Given the description of an element on the screen output the (x, y) to click on. 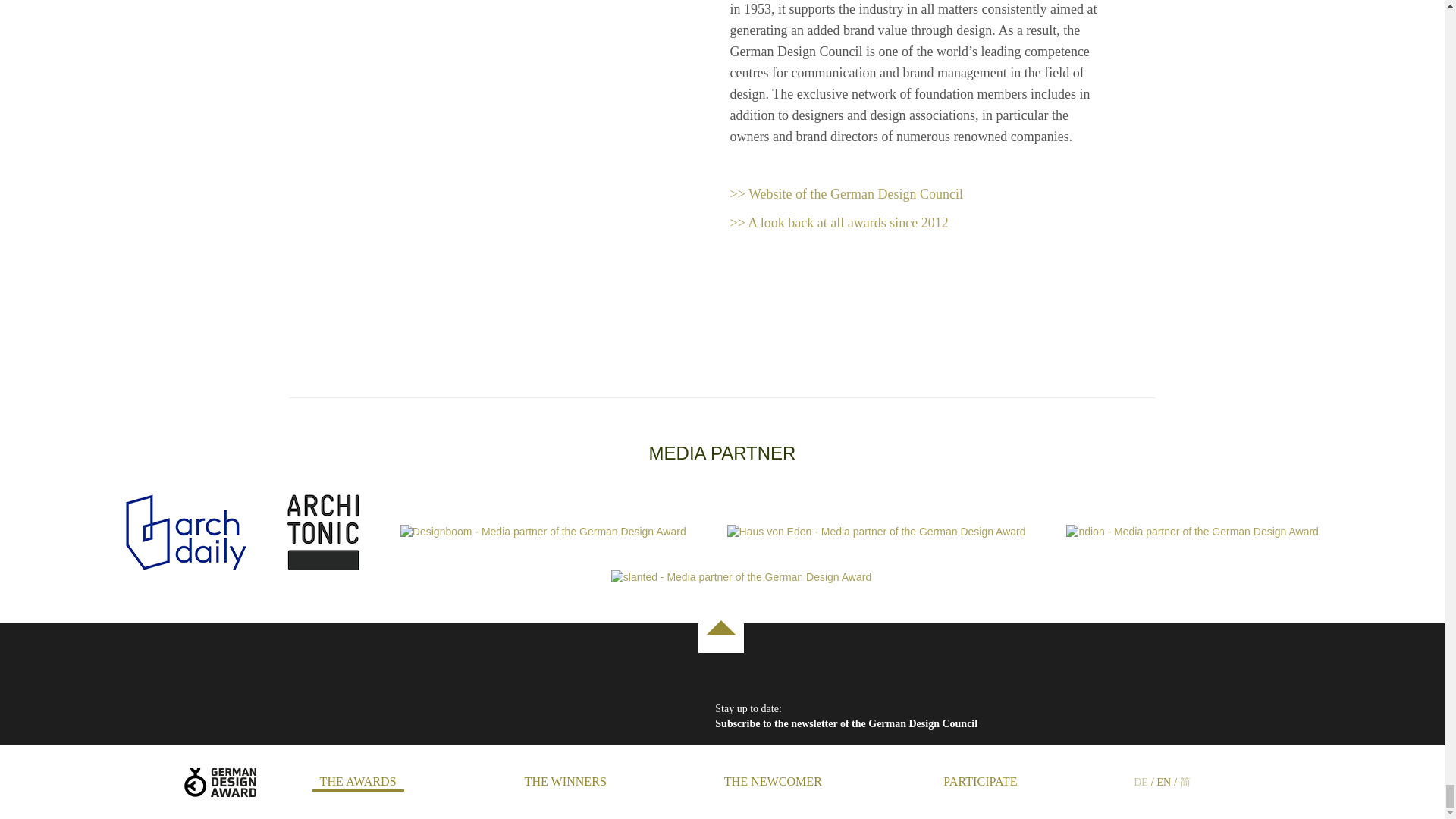
slanted - Media partner of the German Design Award (721, 577)
Architonic - Media partner of the German Design Award (341, 532)
ndion - Media partner of the German Design Award (1191, 531)
Haus von Eden - Media partner of the German Design Award (895, 531)
Arch Daily - Media partner of the German Design Award (204, 532)
Designboom - Media partner of the German Design Award (561, 531)
